Given the description of an element on the screen output the (x, y) to click on. 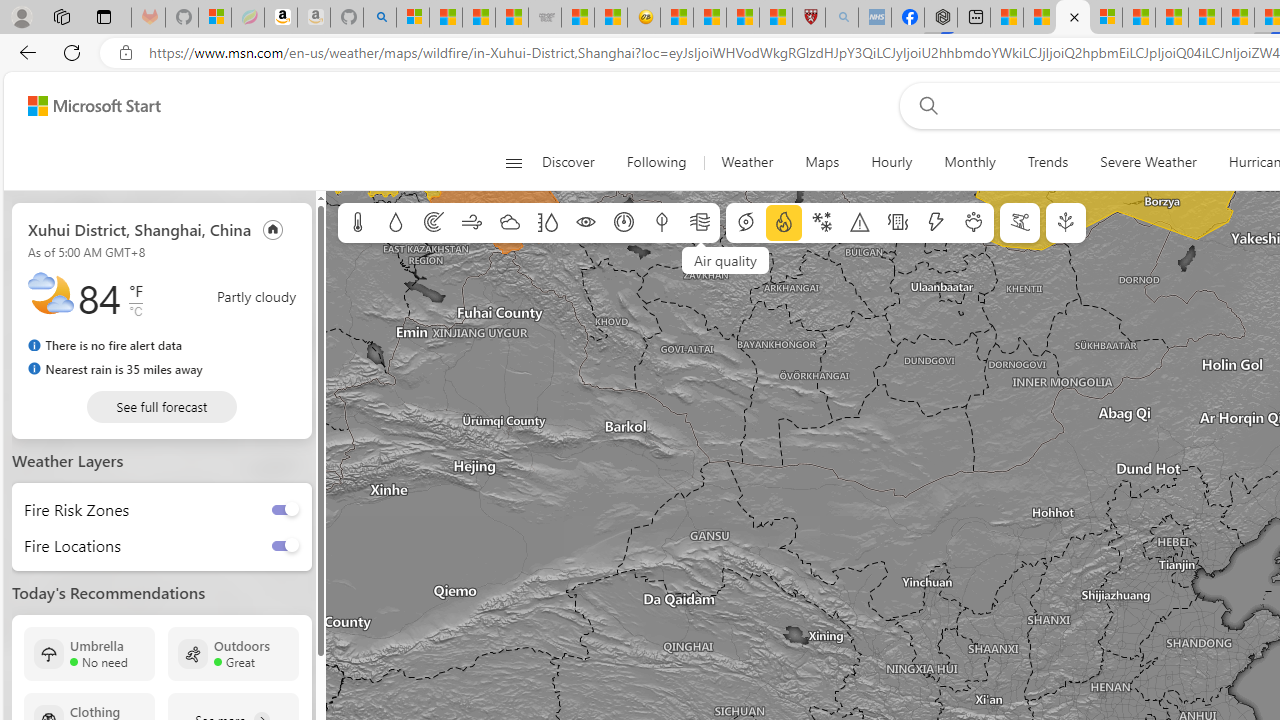
Monthly (969, 162)
Ski conditions (1020, 223)
Umbrella No need (89, 654)
Hurricane (746, 223)
Severe Weather (1148, 162)
Maps (822, 162)
Precipitation (395, 223)
Fire information (783, 223)
